Given the description of an element on the screen output the (x, y) to click on. 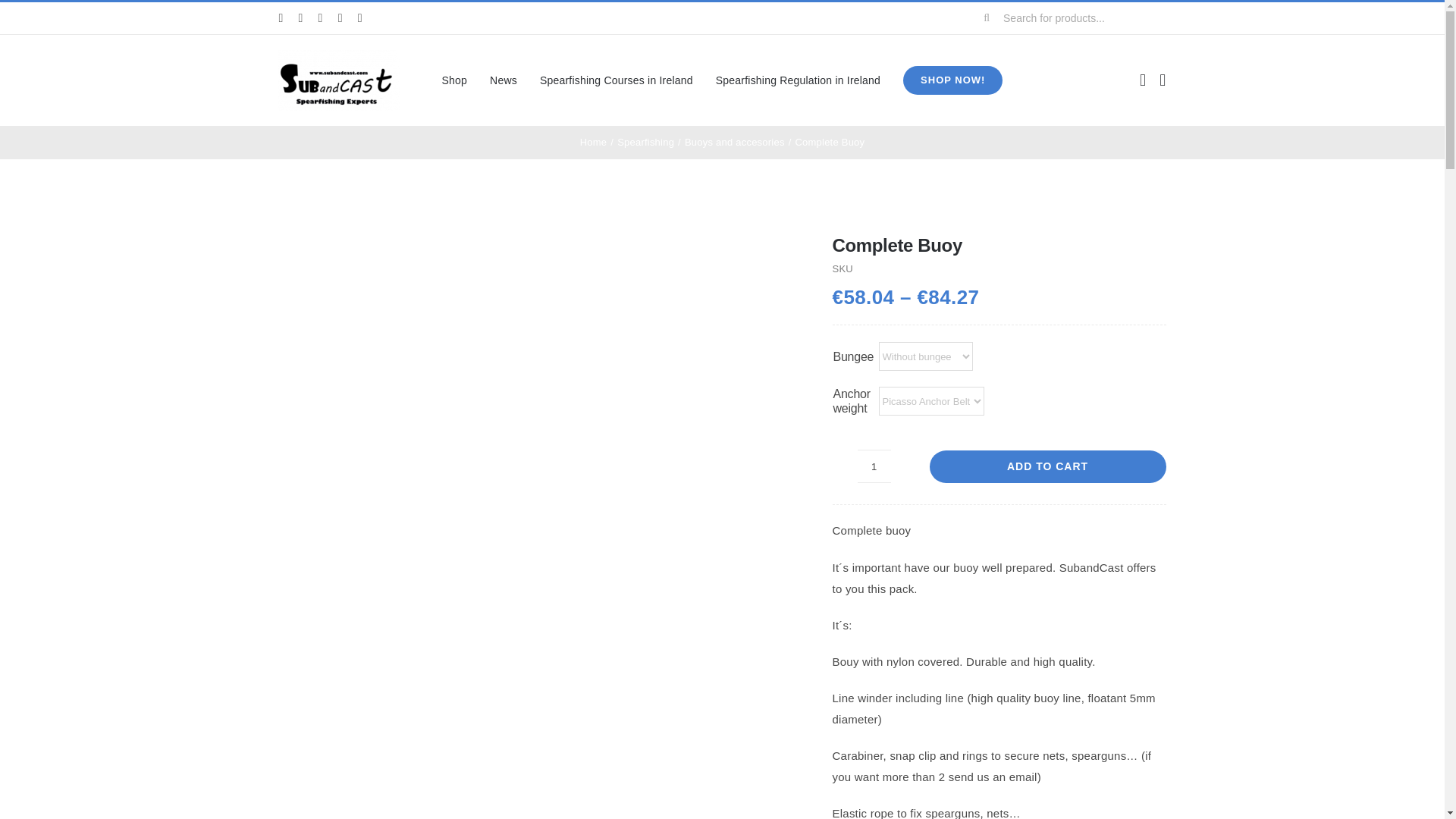
Spearfishing Courses in Ireland (616, 79)
1 (874, 466)
Home (593, 142)
ADD TO CART (1048, 466)
Spearfishing Regulation in Ireland (798, 79)
Buoys and accesories (734, 142)
Spearfishing (645, 142)
Log In (1273, 235)
SHOP NOW! (952, 79)
